Given the description of an element on the screen output the (x, y) to click on. 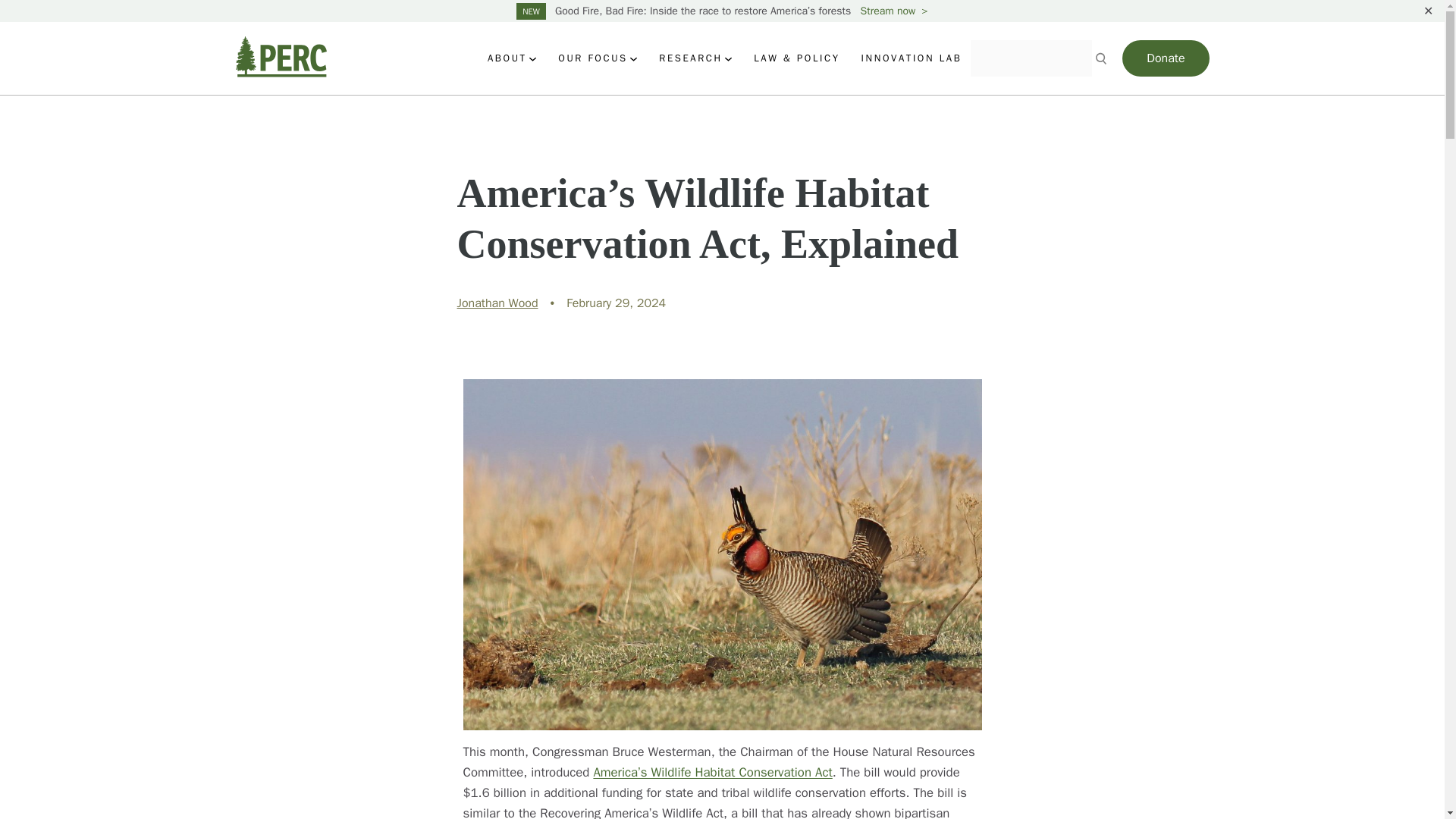
Donate (1165, 58)
INNOVATION LAB (911, 58)
Stream now (894, 10)
